Given the description of an element on the screen output the (x, y) to click on. 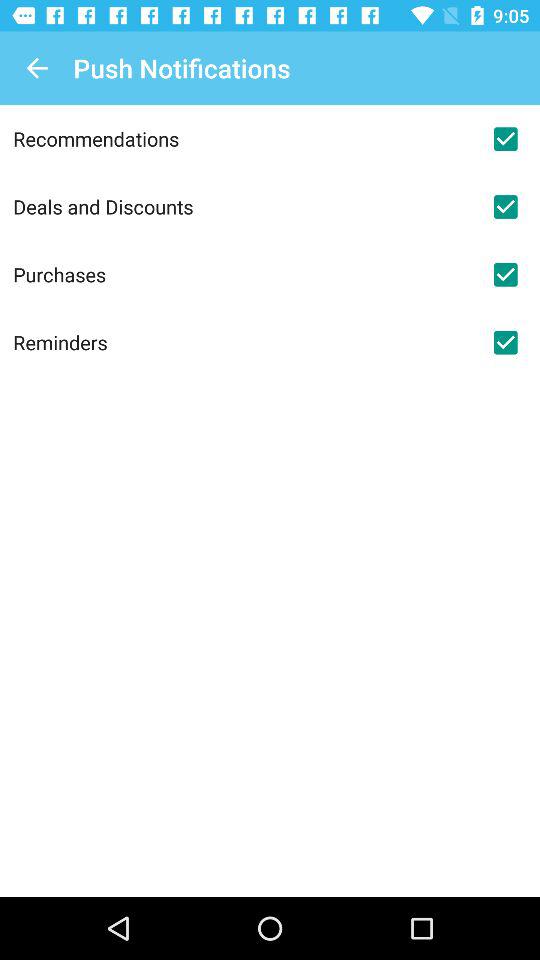
toggle off on (505, 139)
